Given the description of an element on the screen output the (x, y) to click on. 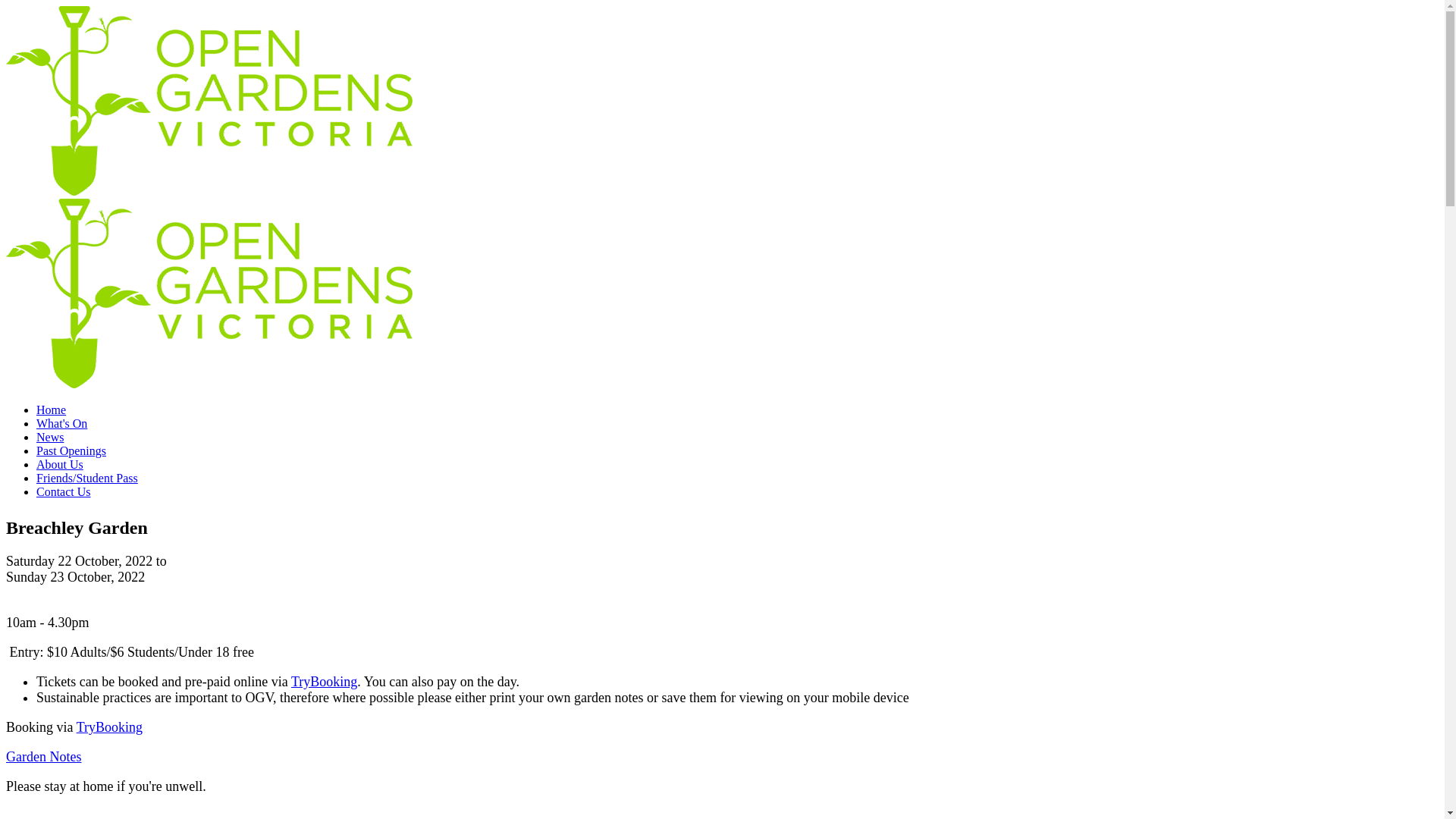
About Us Element type: text (59, 464)
Friends/Student Pass Element type: text (87, 477)
TryBooking Element type: text (109, 726)
News Element type: text (49, 436)
TryBooking Element type: text (324, 681)
Past Openings Element type: text (71, 450)
Home Element type: text (50, 409)
Contact Us Element type: text (63, 491)
What's On Element type: text (61, 423)
Garden Notes Element type: text (43, 756)
